Given the description of an element on the screen output the (x, y) to click on. 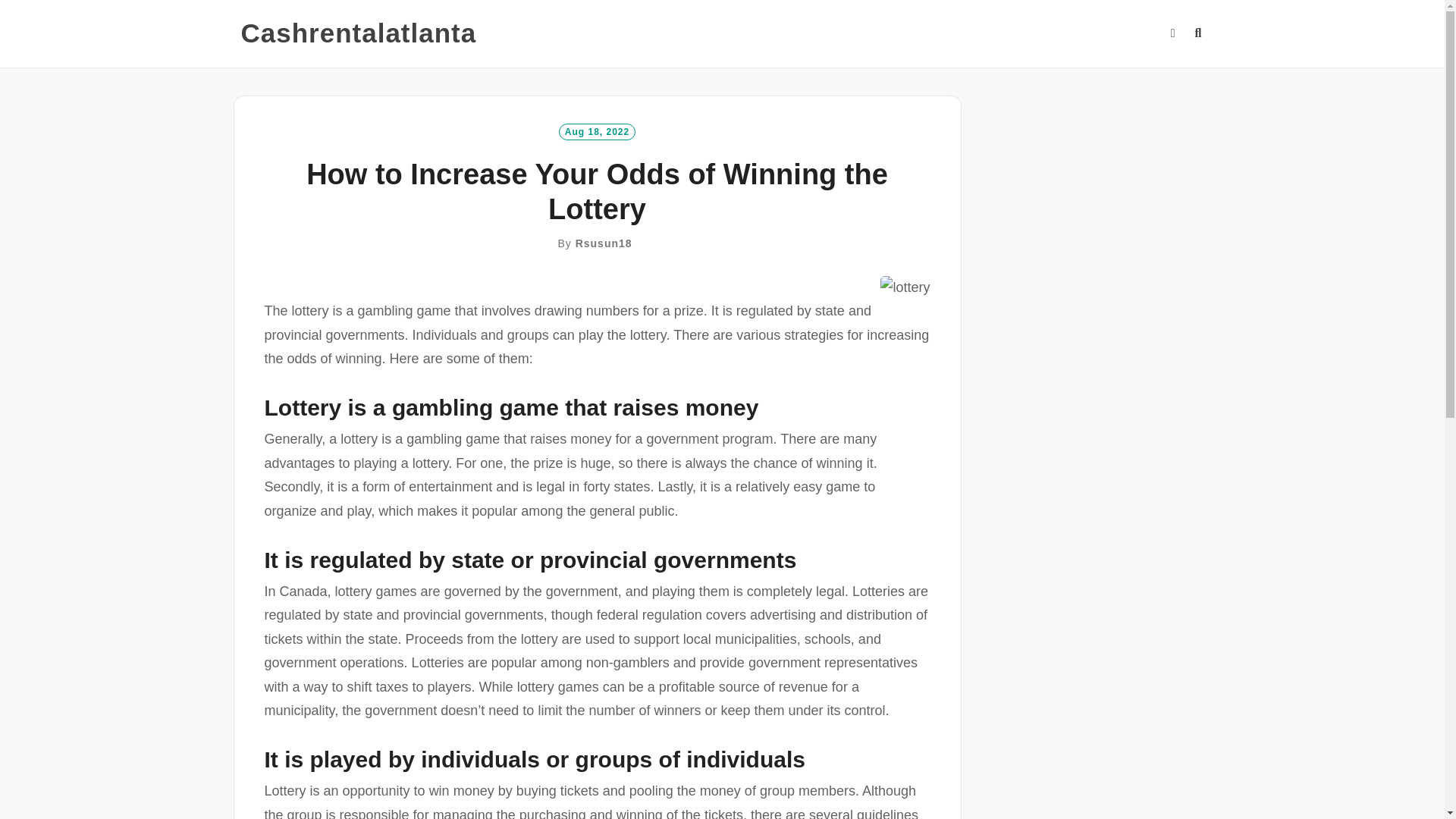
Aug 18, 2022 (596, 130)
Cashrentalatlanta (359, 33)
Rsusun18 (603, 243)
